Given the description of an element on the screen output the (x, y) to click on. 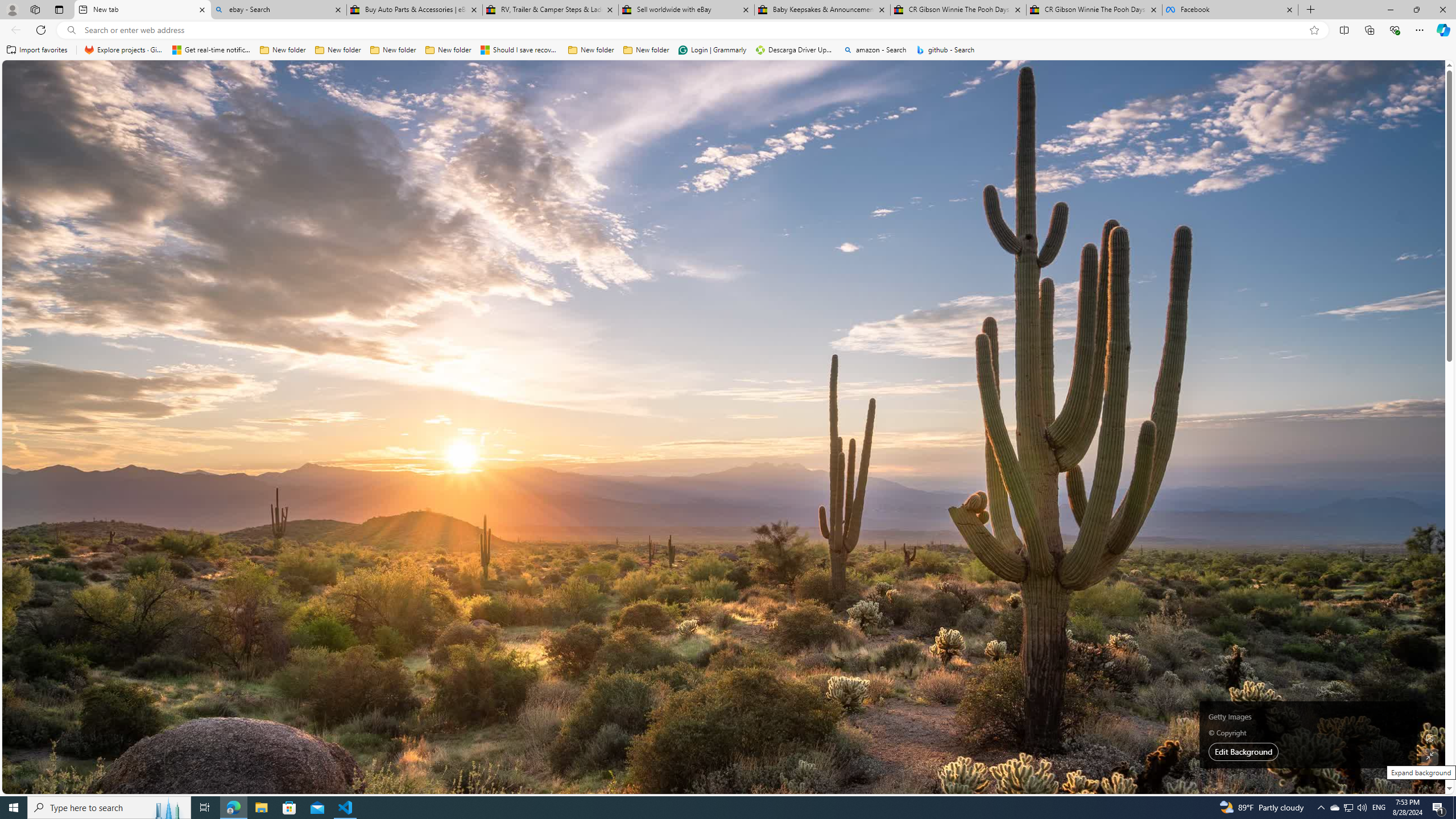
Athletes That Died Far Too Young (807, 307)
28 Like (479, 505)
You're following The Weather Channel (780, 326)
View comments 1 Comment (355, 327)
